Given the description of an element on the screen output the (x, y) to click on. 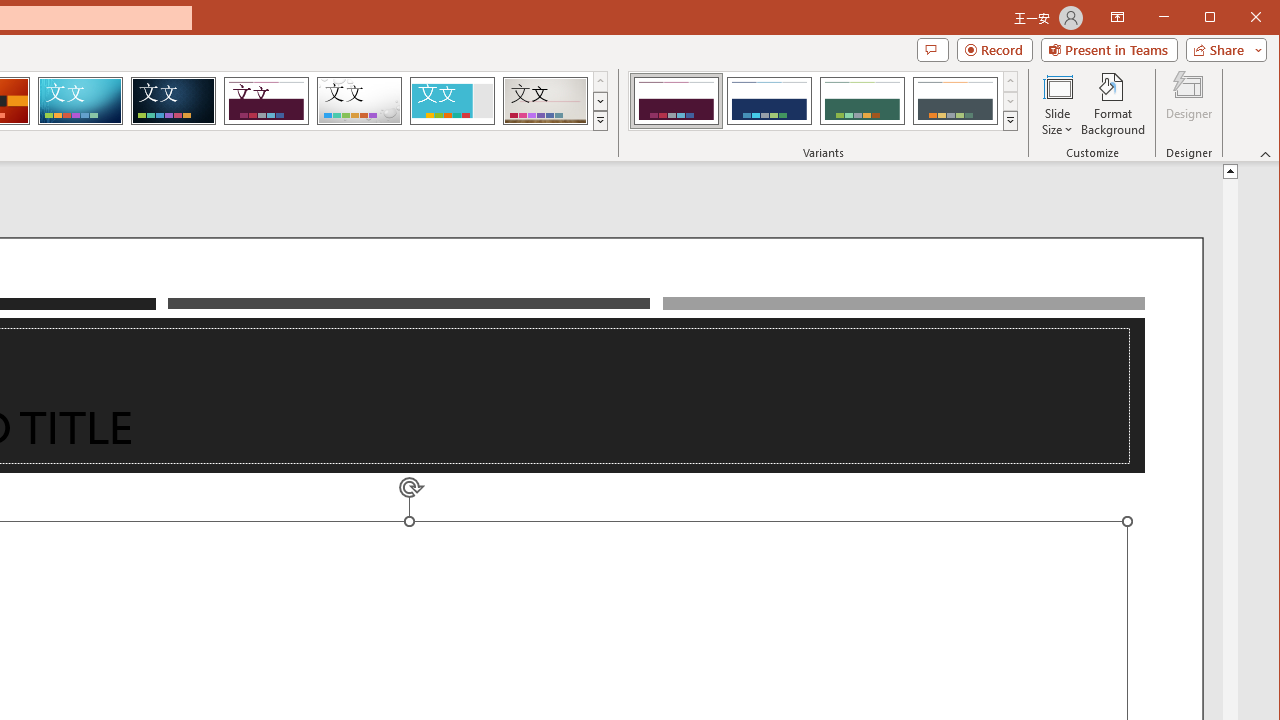
Dividend Variant 2 (769, 100)
Dividend Variant 3 (862, 100)
Dividend Variant 4 (955, 100)
